Given the description of an element on the screen output the (x, y) to click on. 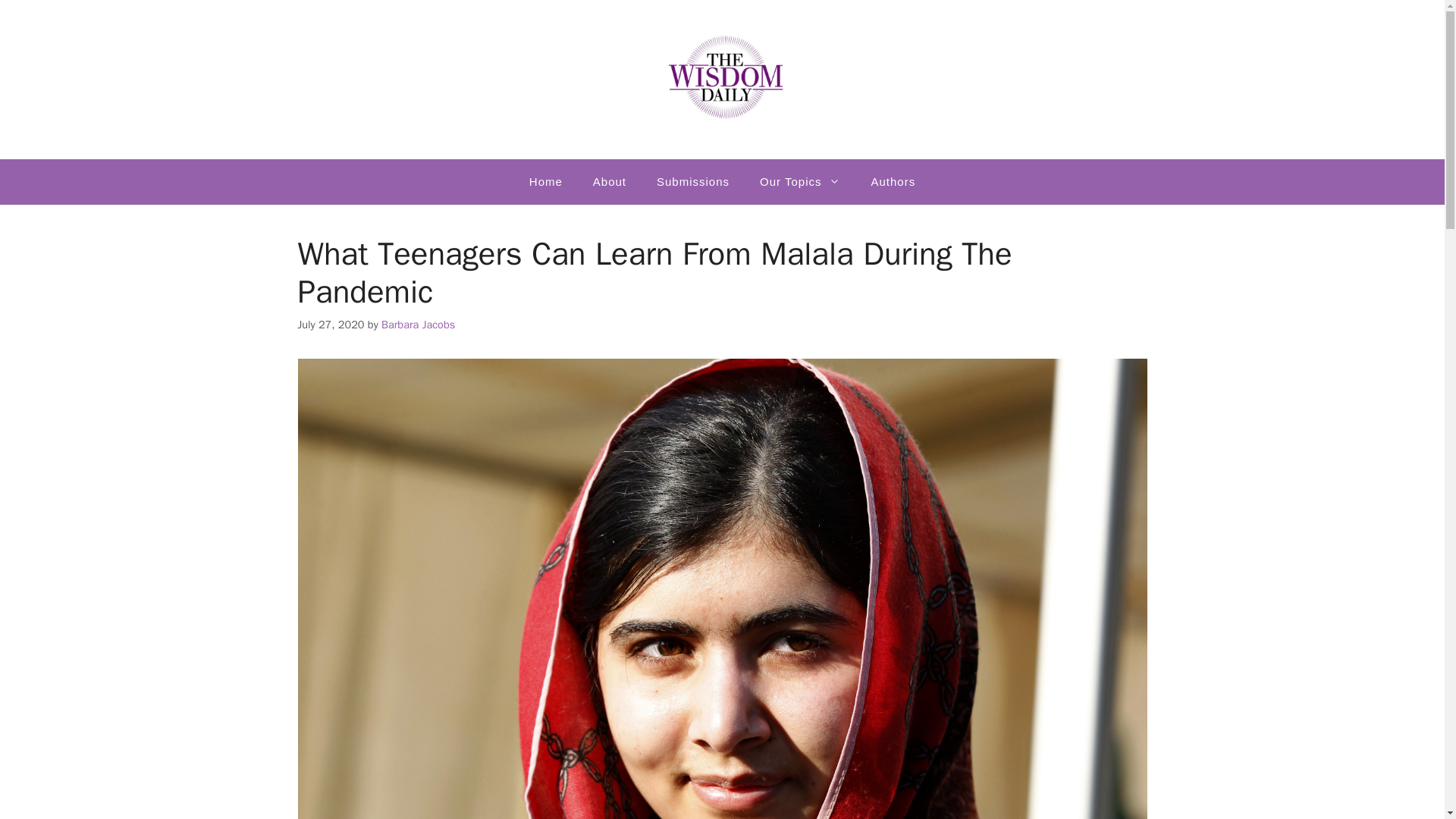
About (610, 181)
Home (545, 181)
Barbara Jacobs (417, 324)
Authors (893, 181)
Submissions (693, 181)
View all posts by Barbara Jacobs (417, 324)
Our Topics (800, 181)
